Given the description of an element on the screen output the (x, y) to click on. 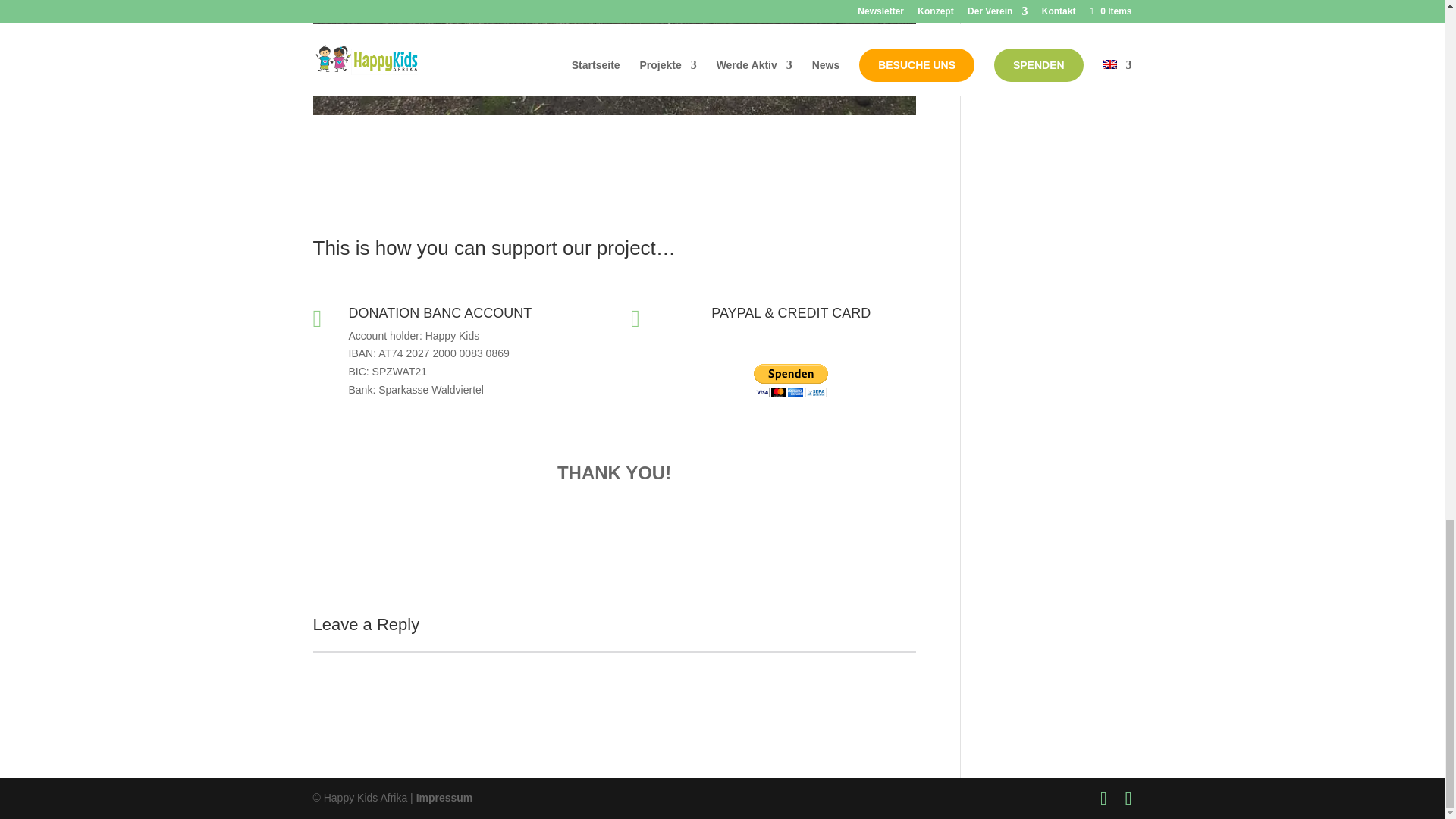
PHOTO-2020-04-11-17-49-51 (614, 114)
